Given the description of an element on the screen output the (x, y) to click on. 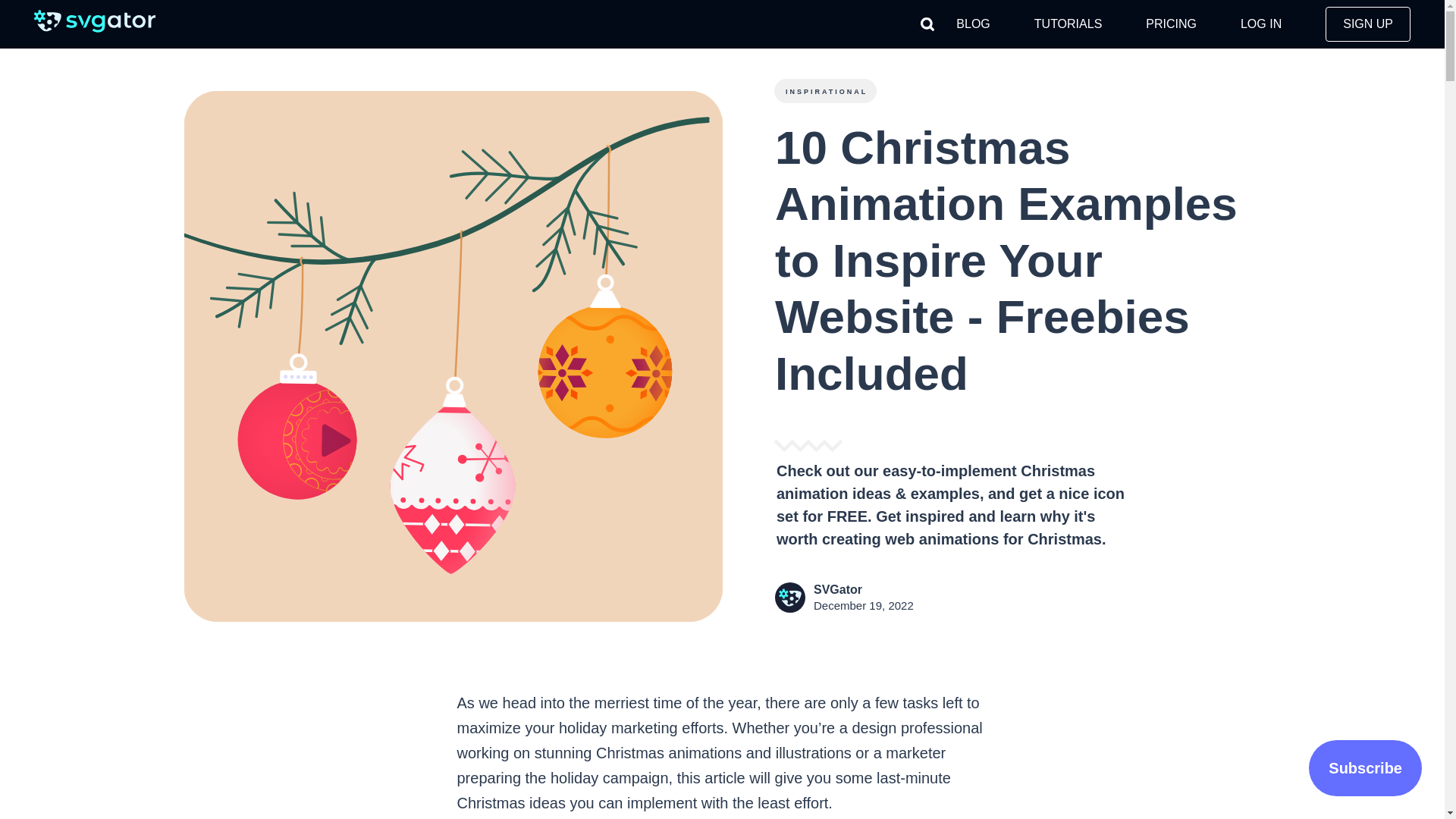
SVGator (836, 589)
SIGN UP (1367, 23)
TUTORIALS (1068, 23)
PRICING (1171, 23)
BLOG (972, 23)
LOG IN (1260, 23)
INSPIRATIONAL (824, 90)
